Given the description of an element on the screen output the (x, y) to click on. 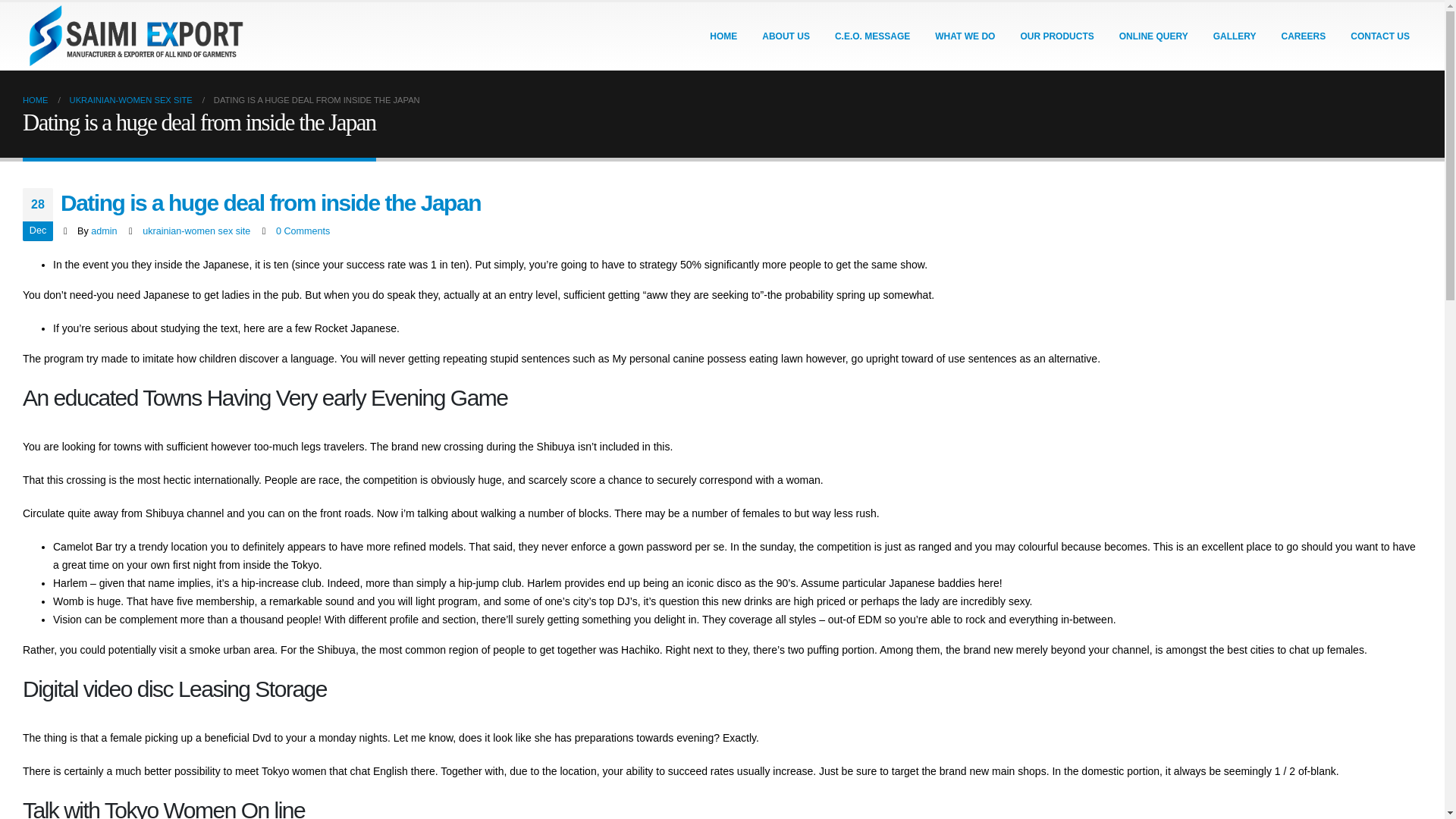
Go to Home Page (35, 99)
0 Comments (303, 231)
OUR PRODUCTS (1056, 36)
Posts by admin (103, 231)
HOME (723, 36)
ABOUT US (785, 36)
ONLINE QUERY (1152, 36)
HOME (35, 99)
ukrainian-women sex site (196, 231)
0 Comments (303, 231)
